Given the description of an element on the screen output the (x, y) to click on. 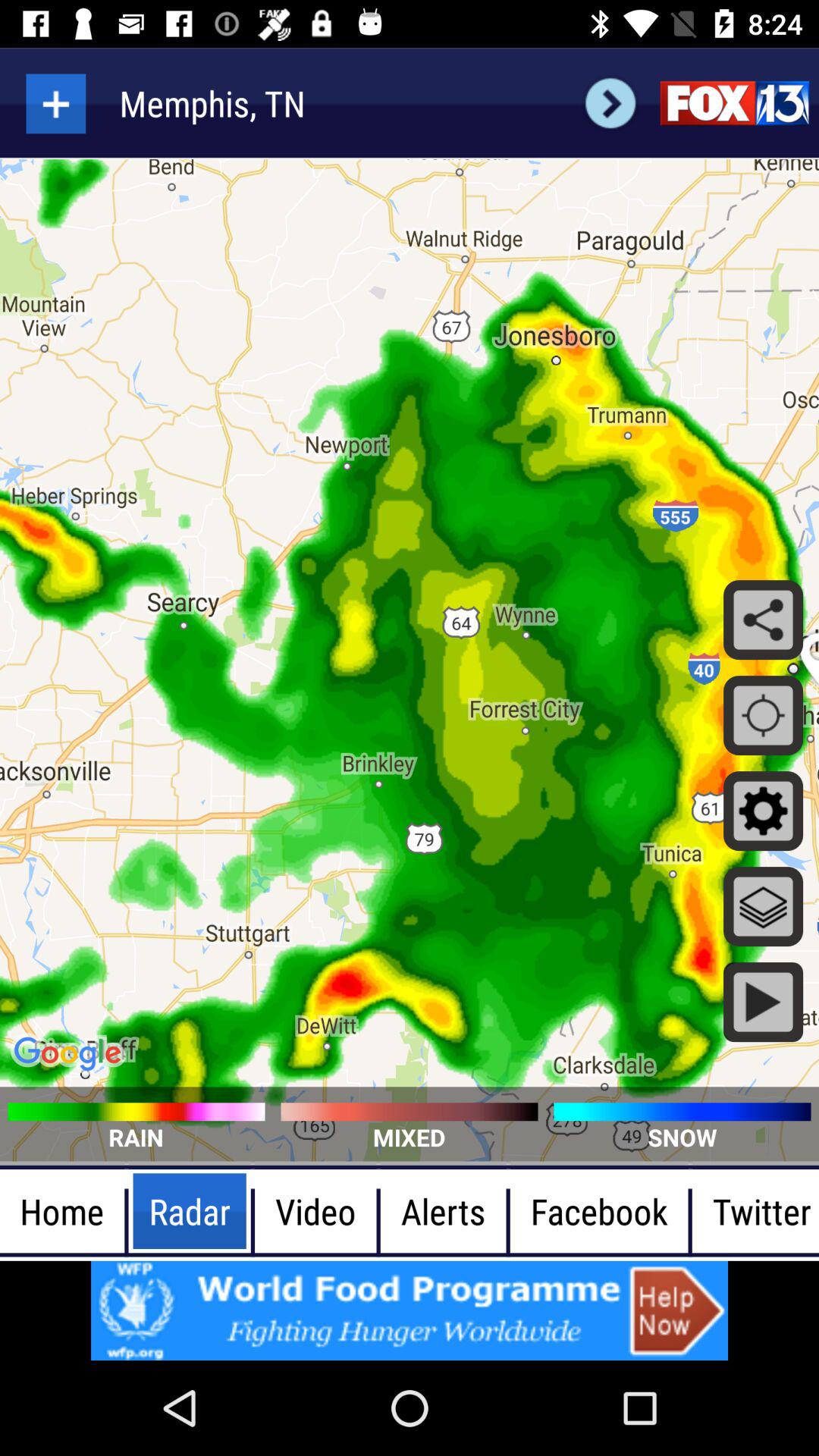
advertisement button (409, 1310)
